Given the description of an element on the screen output the (x, y) to click on. 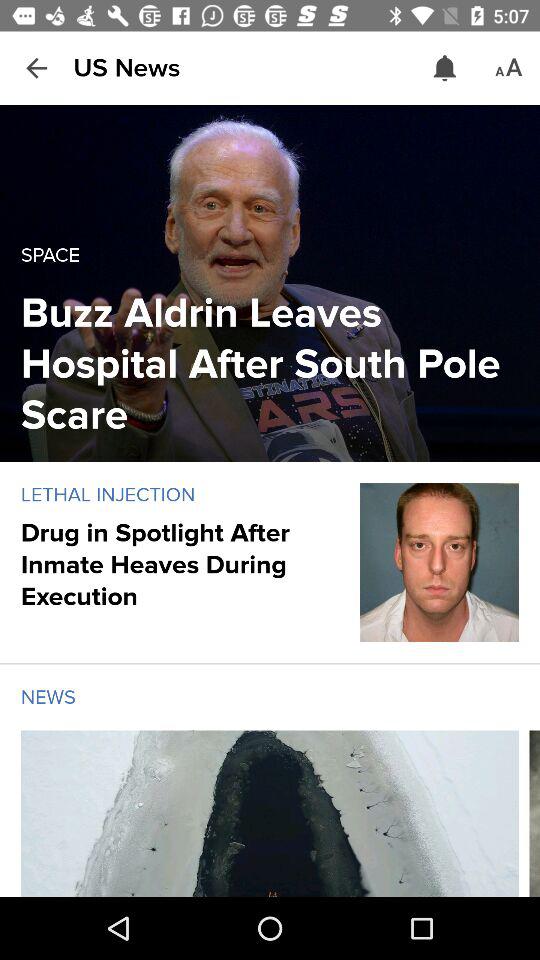
choose article (270, 813)
